Given the description of an element on the screen output the (x, y) to click on. 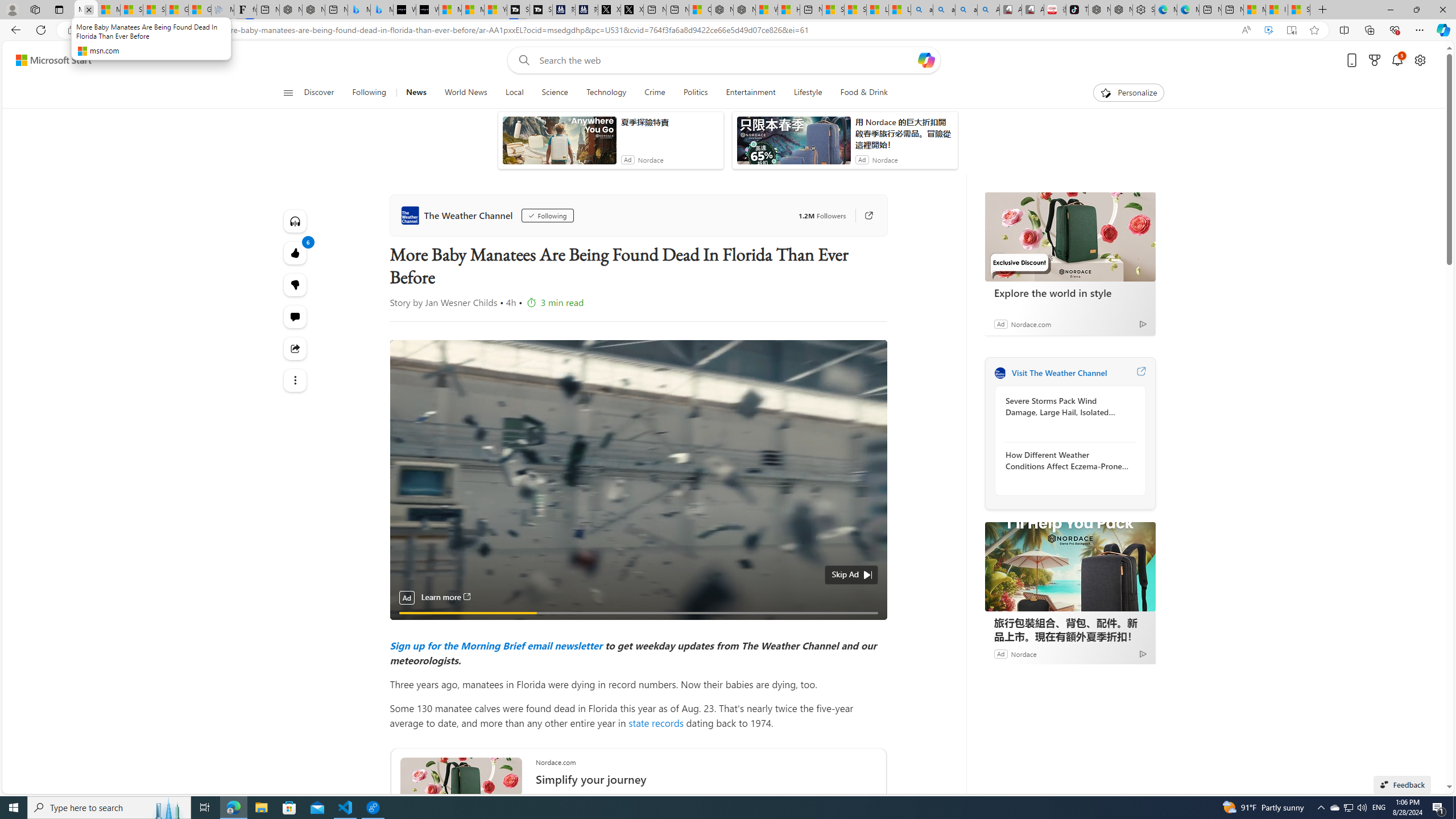
Entertainment (750, 92)
Class: button-glyph (287, 92)
Web search (520, 60)
Share this story (295, 348)
Address and search bar (658, 29)
amazon - Search Images (966, 9)
